Given the description of an element on the screen output the (x, y) to click on. 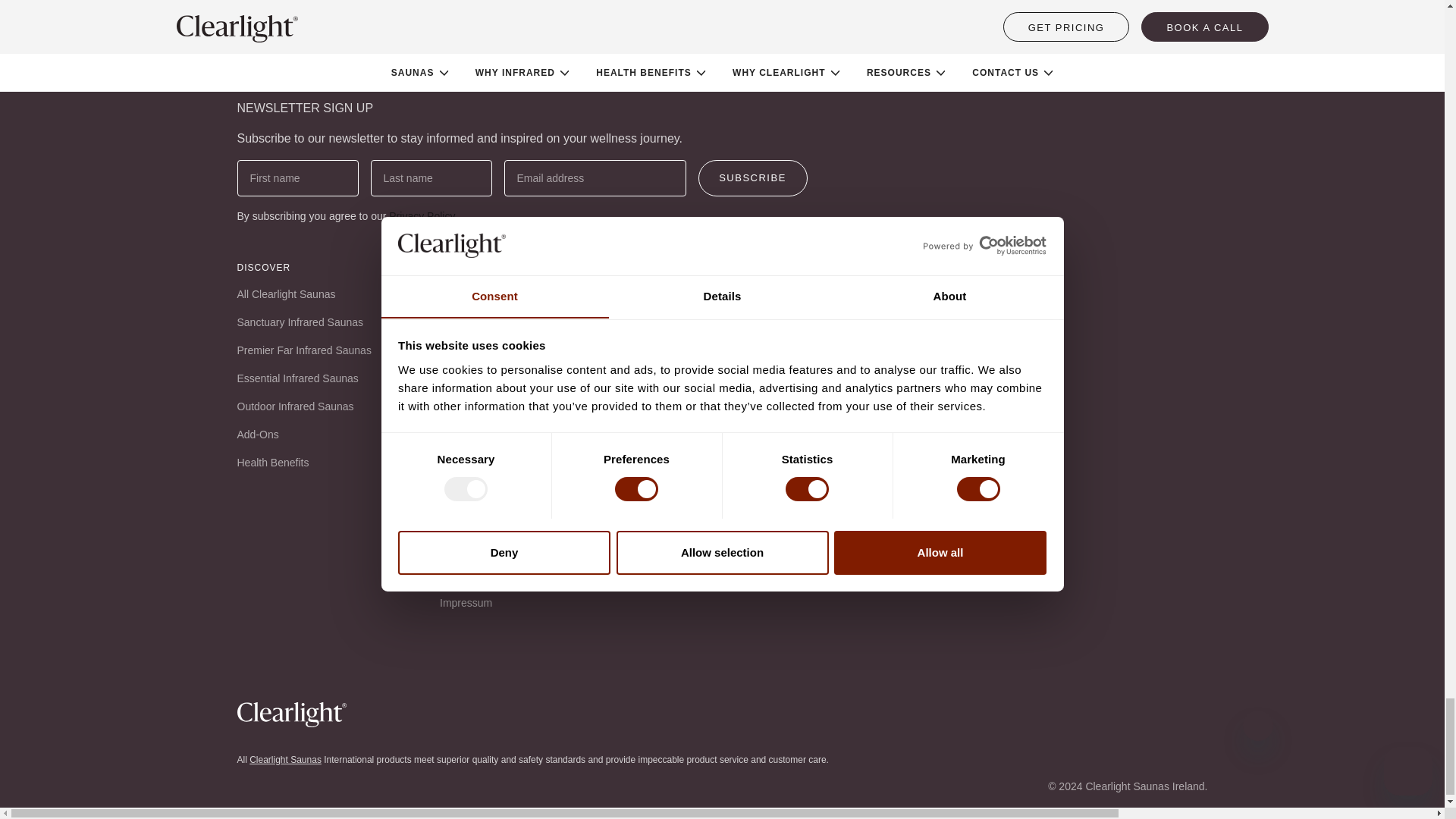
subscribe (751, 177)
